Given the description of an element on the screen output the (x, y) to click on. 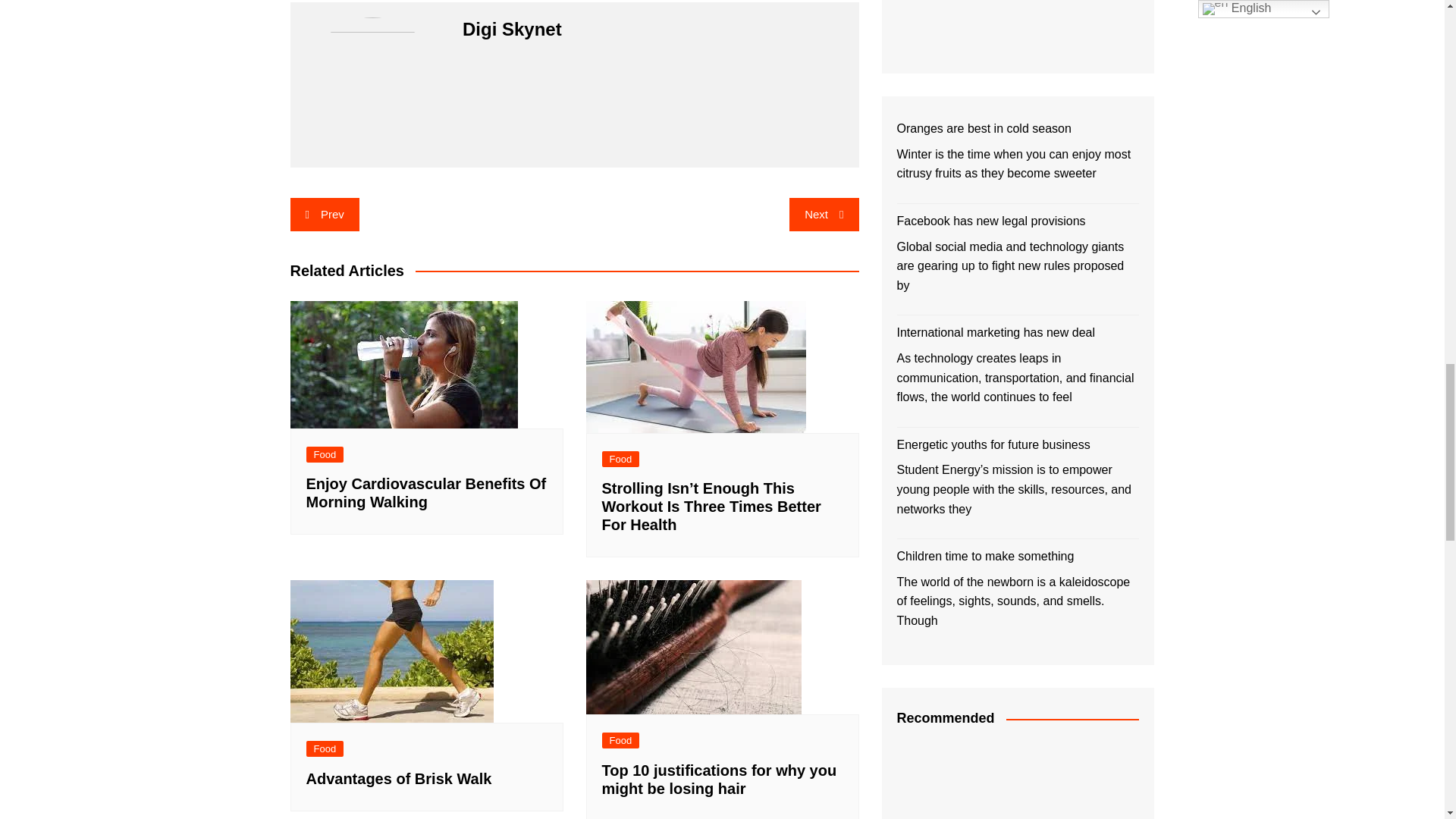
Top 10 justifications for why you might be losing hair (692, 646)
Enjoy Cardiovascular Benefits Of Morning Walking (402, 364)
Advantages of Brisk Walk (391, 650)
